Given the description of an element on the screen output the (x, y) to click on. 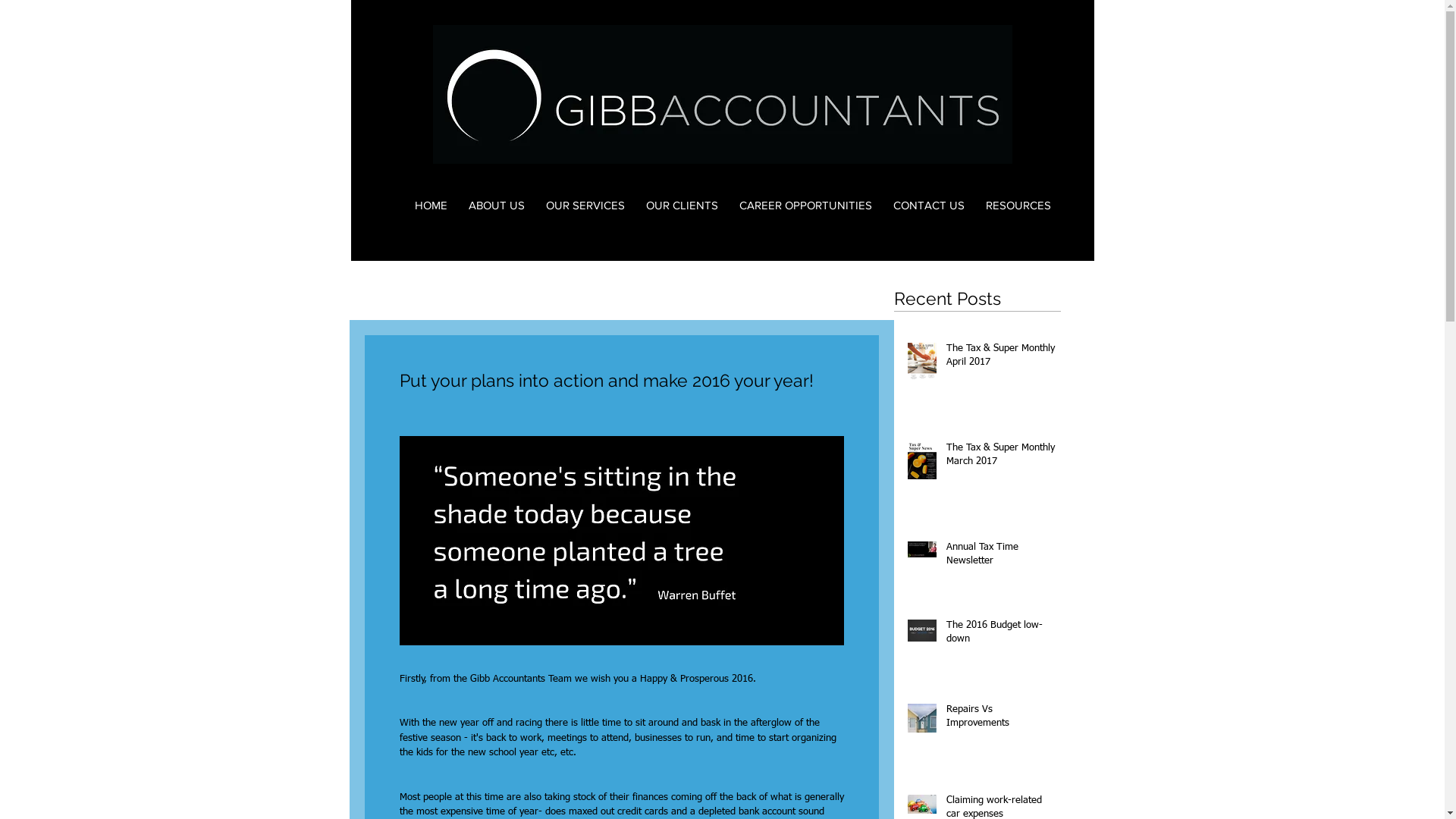
Repairs Vs Improvements Element type: text (1000, 719)
Annual Tax Time Newsletter Element type: text (1000, 557)
The Tax & Super Monthly March 2017 Element type: text (1000, 457)
RESOURCES Element type: text (1018, 205)
HOME Element type: text (430, 205)
ABOUT US Element type: text (496, 205)
OUR SERVICES Element type: text (585, 205)
CONTACT US Element type: text (928, 205)
OUR CLIENTS Element type: text (681, 205)
The 2016 Budget low-down Element type: text (1000, 635)
CAREER OPPORTUNITIES Element type: text (804, 205)
The Tax & Super Monthly April 2017 Element type: text (1000, 358)
